Given the description of an element on the screen output the (x, y) to click on. 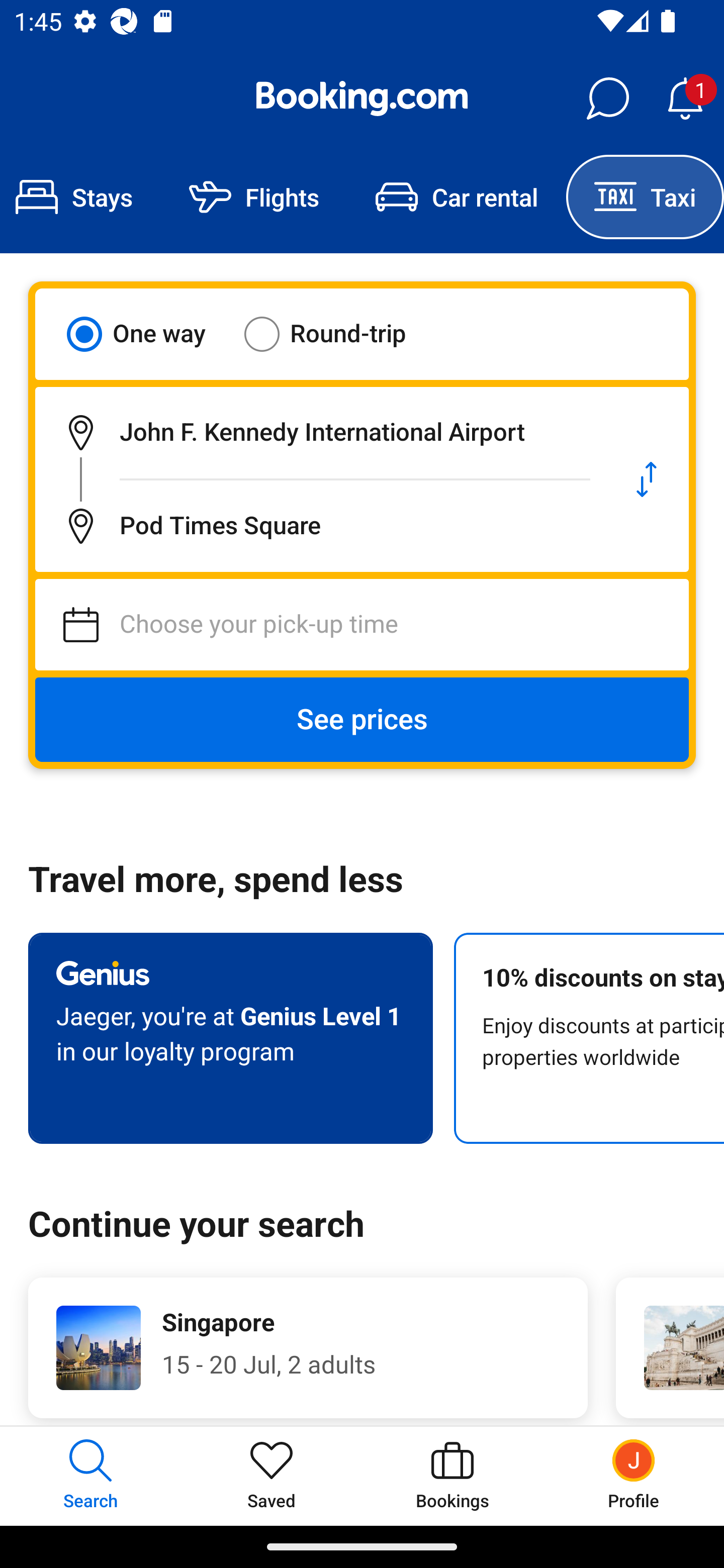
Messages (607, 98)
Notifications (685, 98)
Stays (80, 197)
Flights (253, 197)
Car rental (456, 197)
Taxi (645, 197)
Round-trip (337, 333)
Swap pick-up location and destination (646, 479)
Destination: Pod Times Square (319, 525)
Choose your pick-up time (361, 624)
See prices (361, 719)
Singapore 15 - 20 Jul, 2 adults (307, 1347)
Saved (271, 1475)
Bookings (452, 1475)
Profile (633, 1475)
